Given the description of an element on the screen output the (x, y) to click on. 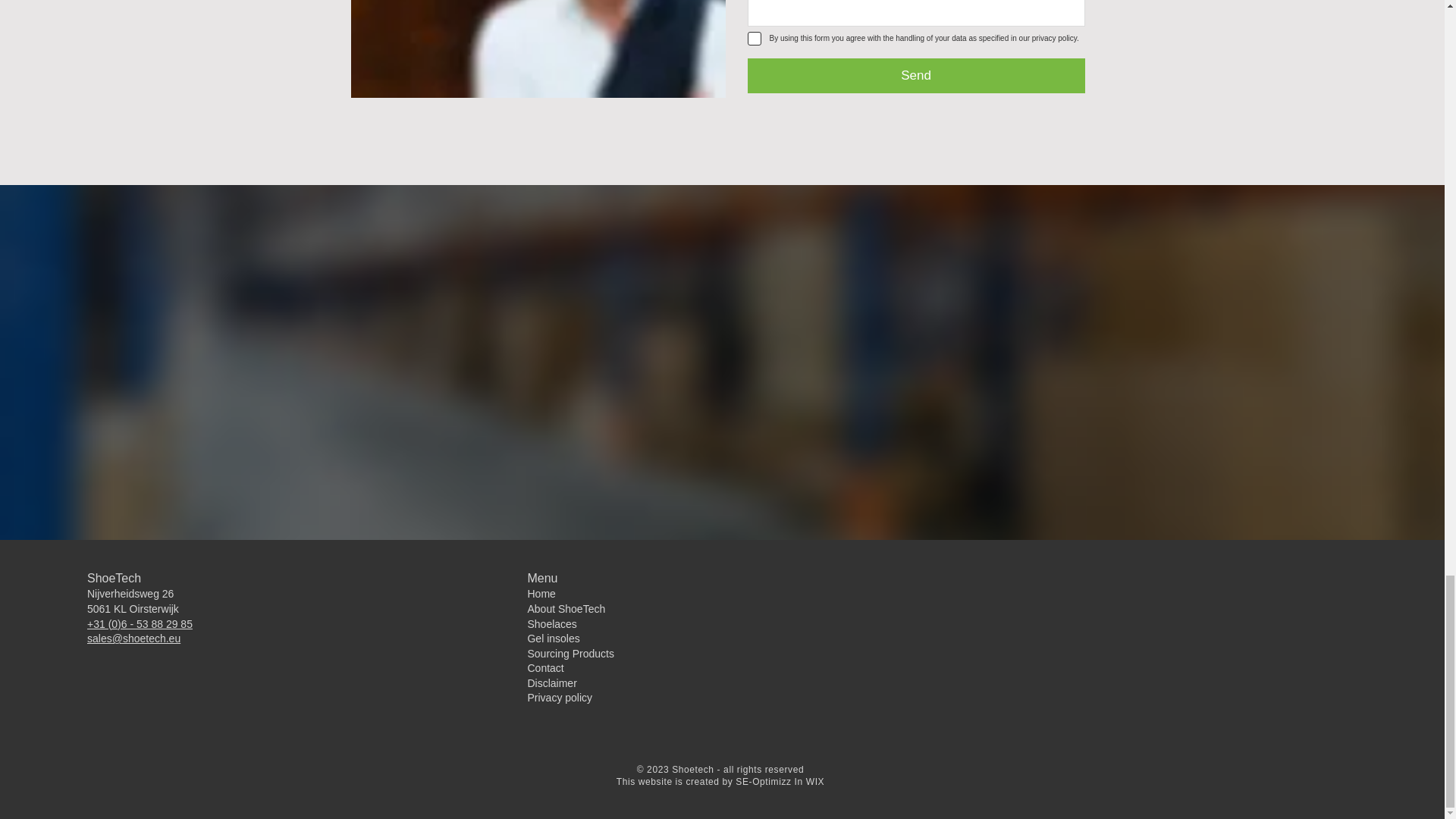
Privacy policy (559, 697)
Home (540, 593)
SE-Optimizz (762, 781)
Gel insoles (553, 638)
Disclaimer (551, 683)
Sourcing Products (569, 653)
Send (916, 75)
Shoelaces (551, 623)
About ShoeTech (566, 608)
